Given the description of an element on the screen output the (x, y) to click on. 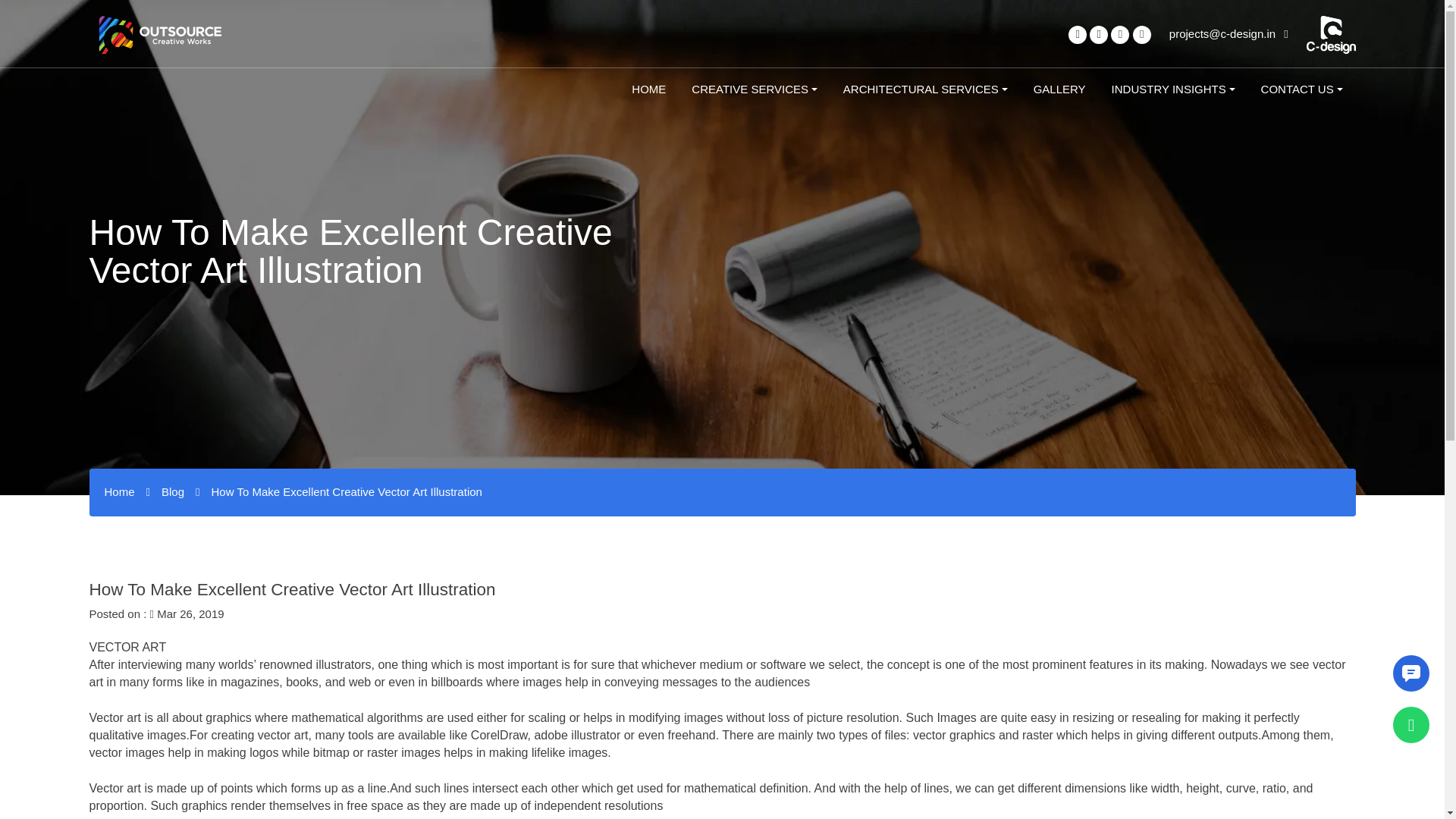
HOME (648, 90)
INDUSTRY INSIGHTS (1173, 90)
ARCHITECTURAL SERVICES (924, 90)
GALLERY (1059, 90)
CREATIVE SERVICES (753, 90)
